Given the description of an element on the screen output the (x, y) to click on. 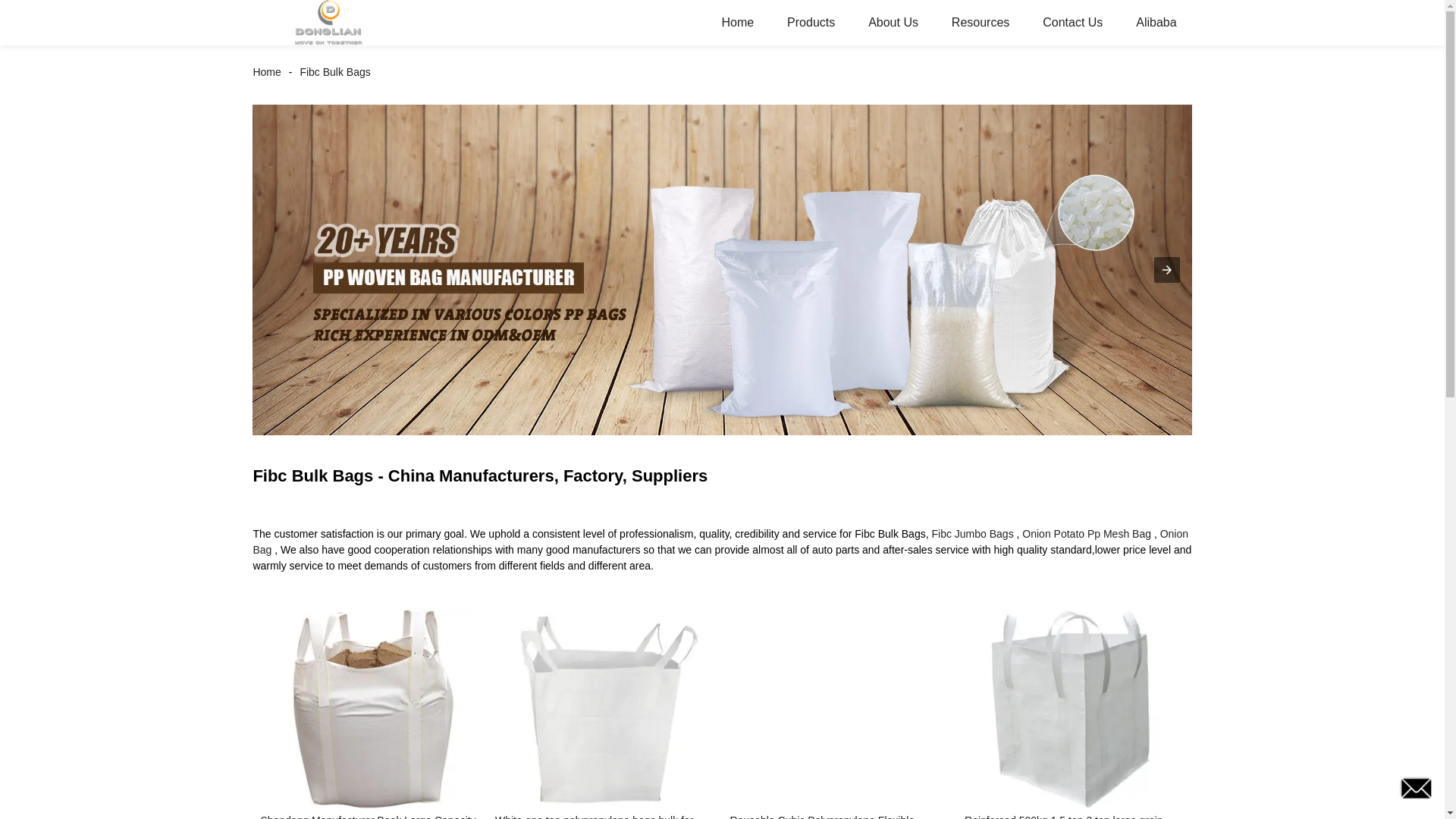
Contact Us (1072, 22)
Onion Potato Pp Mesh Bag (1086, 533)
Products (810, 22)
Fibc Jumbo Bags (972, 533)
Shandong Manufacturer Book Large Capacity U pan... (370, 816)
Alibaba (1156, 22)
Fibc Bulk Bags (334, 71)
About Us (893, 22)
Onion Potato Pp Mesh Bag (1086, 533)
Home (269, 71)
